Given the description of an element on the screen output the (x, y) to click on. 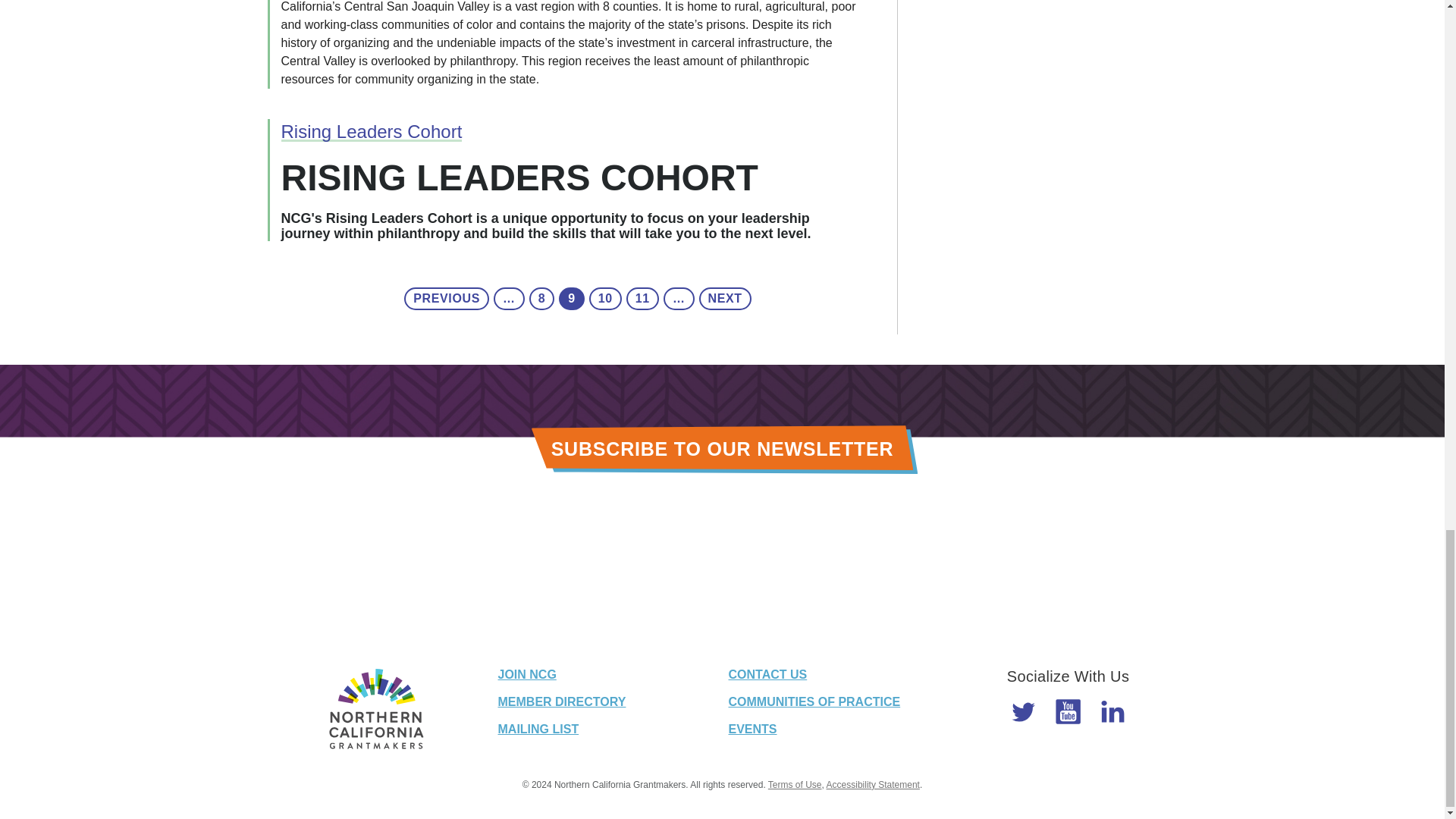
Go to page 11 (642, 298)
Go to previous page (446, 298)
Go to page 8 (541, 298)
Home (375, 709)
Go to next page (724, 298)
Current page (572, 298)
Go to page 10 (605, 298)
